Given the description of an element on the screen output the (x, y) to click on. 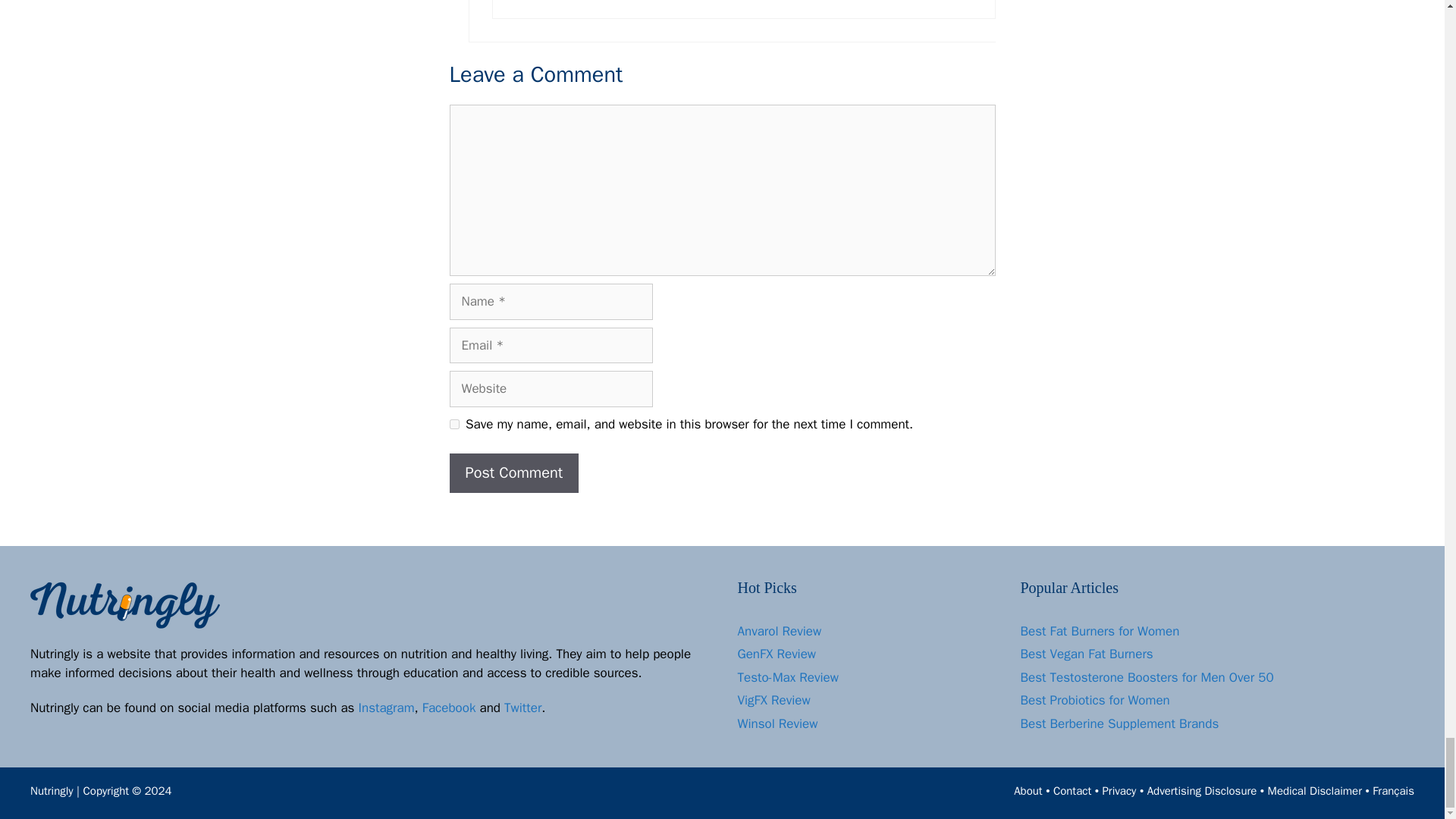
yes (453, 424)
Post Comment (513, 473)
